Given the description of an element on the screen output the (x, y) to click on. 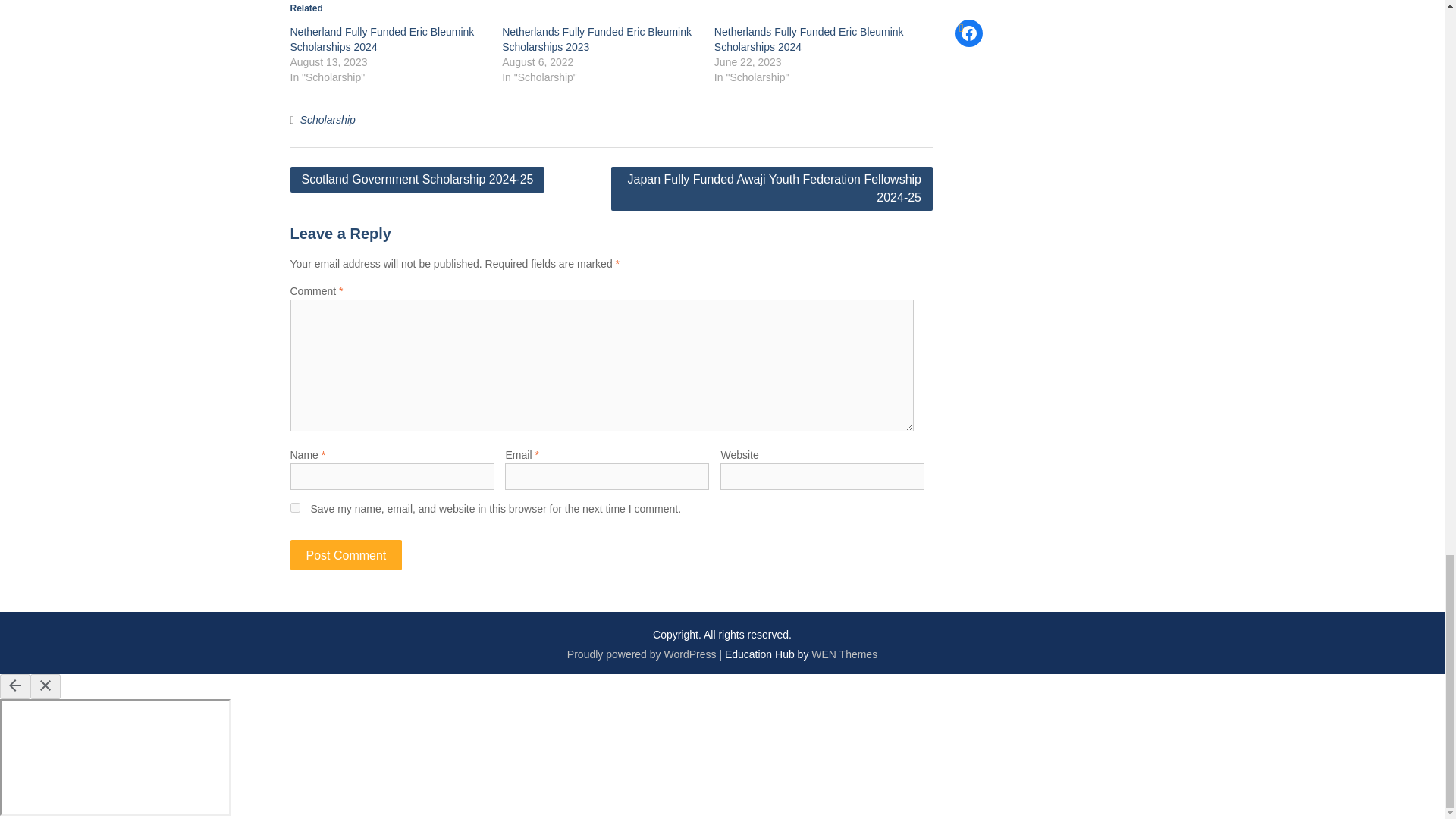
yes (294, 507)
Netherlands Fully Funded Eric Bleumink Scholarships 2024 (809, 39)
Scotland Government Scholarship 2024-25 (416, 179)
Netherlands Fully Funded Eric Bleumink Scholarships 2024 (809, 39)
Scholarship (327, 119)
Post Comment (345, 554)
Netherlands Fully Funded Eric Bleumink Scholarships 2023 (596, 39)
Netherlands Fully Funded Eric Bleumink Scholarships 2023 (596, 39)
Post Comment (345, 554)
Netherland Fully Funded Eric Bleumink Scholarships 2024 (381, 39)
Netherland Fully Funded Eric Bleumink Scholarships 2024 (381, 39)
Japan Fully Funded Awaji Youth Federation Fellowship 2024-25 (772, 188)
